Given the description of an element on the screen output the (x, y) to click on. 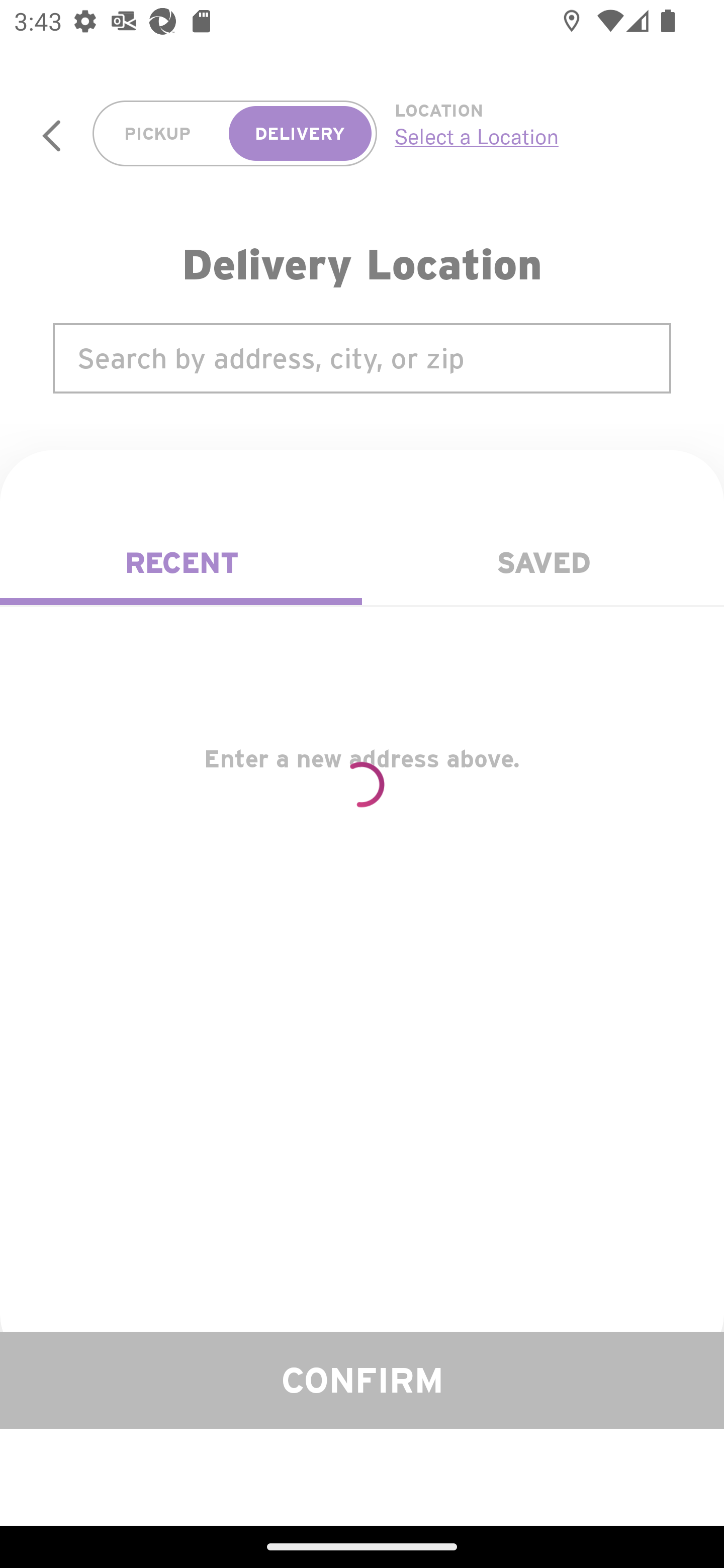
PICKUP (157, 133)
DELIVERY (299, 133)
Select a Location (536, 136)
Search by address, city, or zip (361, 358)
Saved SAVED (543, 562)
CONFIRM (362, 1379)
